Given the description of an element on the screen output the (x, y) to click on. 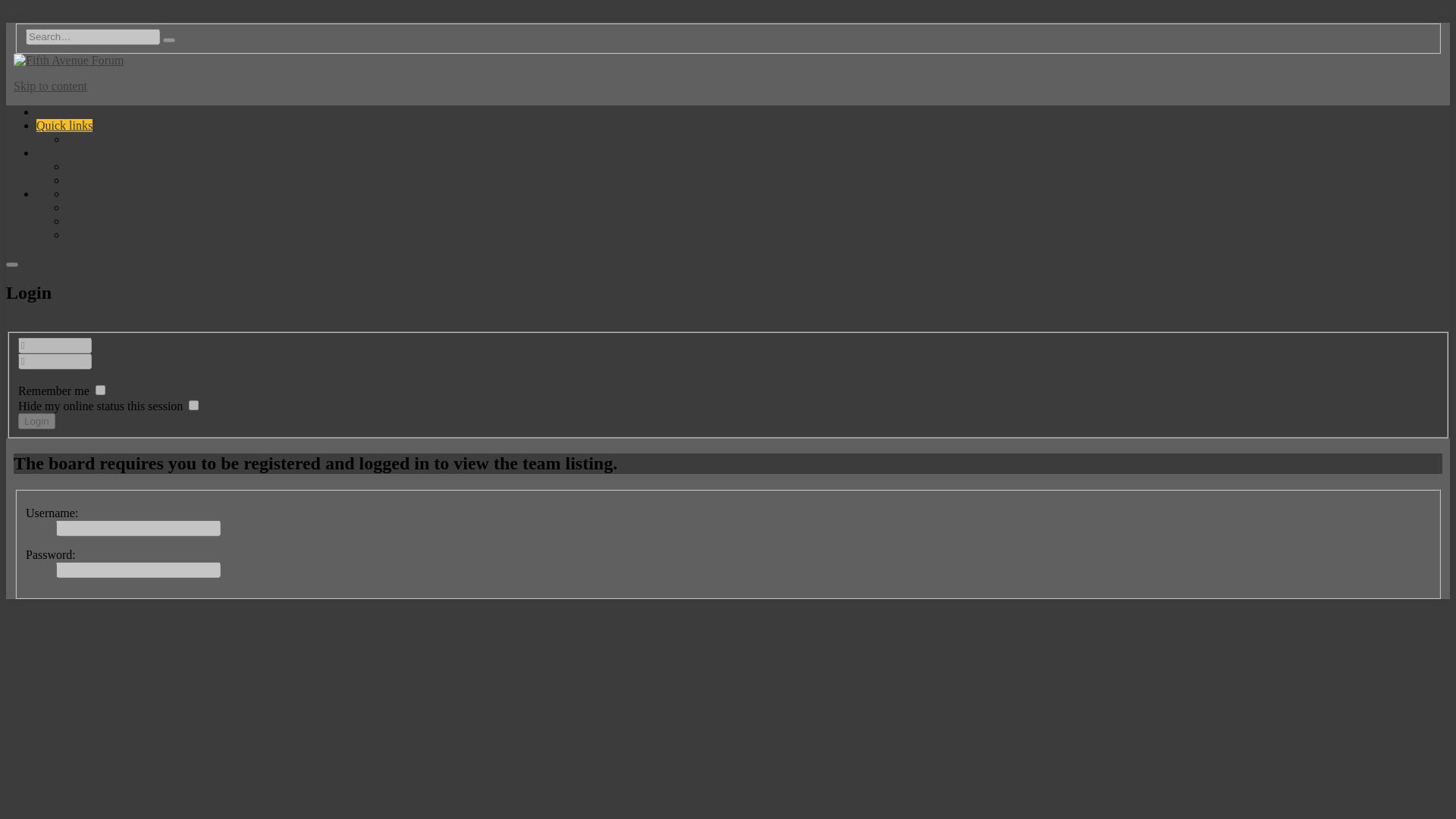
Skip to content (50, 85)
Login (36, 421)
Quick links (64, 124)
Active topics (98, 179)
Password (54, 360)
Register (86, 193)
Login (36, 421)
on (100, 389)
on (193, 405)
Contact us (91, 234)
Board index (50, 111)
Username (54, 344)
Frequently Asked Questions (78, 138)
Login (81, 206)
Login (81, 206)
